Given the description of an element on the screen output the (x, y) to click on. 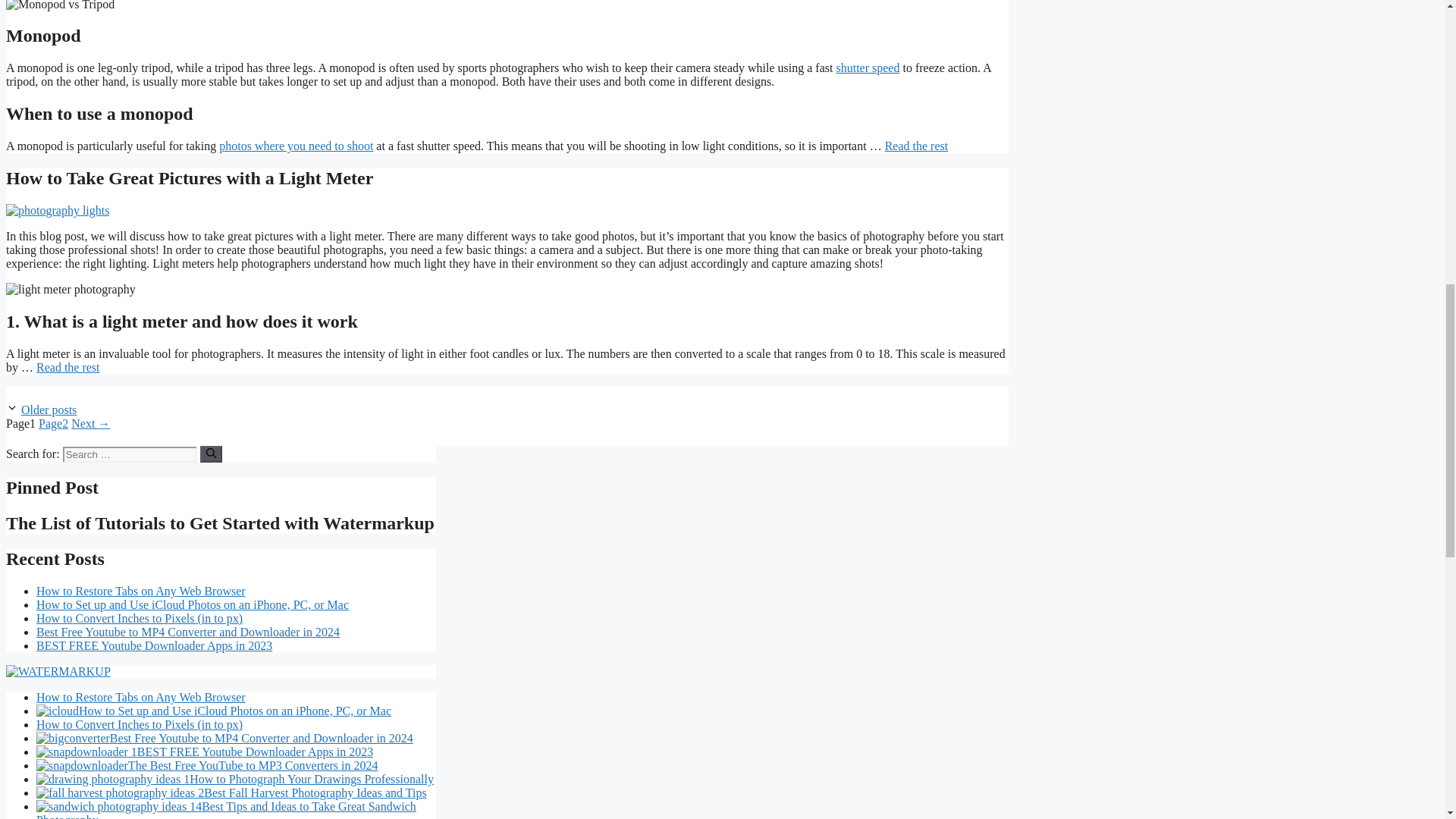
How to Take Great Pictures with a Light Meter (188, 178)
The List of Tutorials to Get Started with Watermarkup (219, 523)
Previous (49, 409)
Older posts (49, 409)
Search for: (129, 454)
Monopod vs Tripod (60, 5)
WATERMARKUP (57, 671)
shutter speed (867, 67)
Read the rest (68, 367)
How to Restore Tabs on Any Web Browser (141, 590)
Read the rest (917, 145)
photos where you need to shoot (295, 145)
Page2 (53, 422)
